Given the description of an element on the screen output the (x, y) to click on. 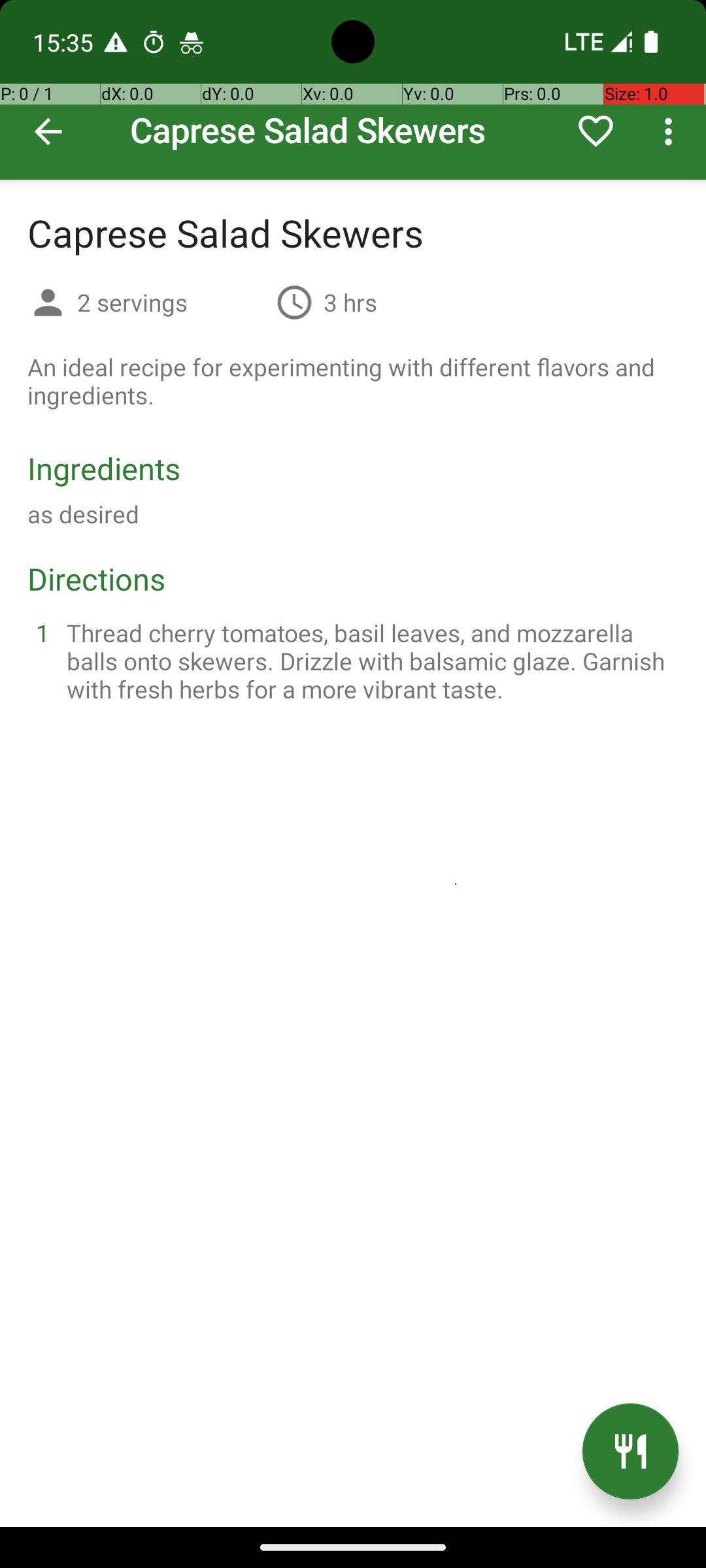
Caprese Salad Skewers Element type: android.widget.FrameLayout (353, 89)
Mark as favorite Element type: android.widget.Button (595, 131)
2 servings Element type: android.widget.TextView (170, 301)
3 hrs Element type: android.widget.TextView (350, 301)
as desired Element type: android.widget.TextView (83, 513)
Thread cherry tomatoes, basil leaves, and mozzarella balls onto skewers. Drizzle with balsamic glaze. Garnish with fresh herbs for a more vibrant taste. Element type: android.widget.TextView (368, 660)
